Given the description of an element on the screen output the (x, y) to click on. 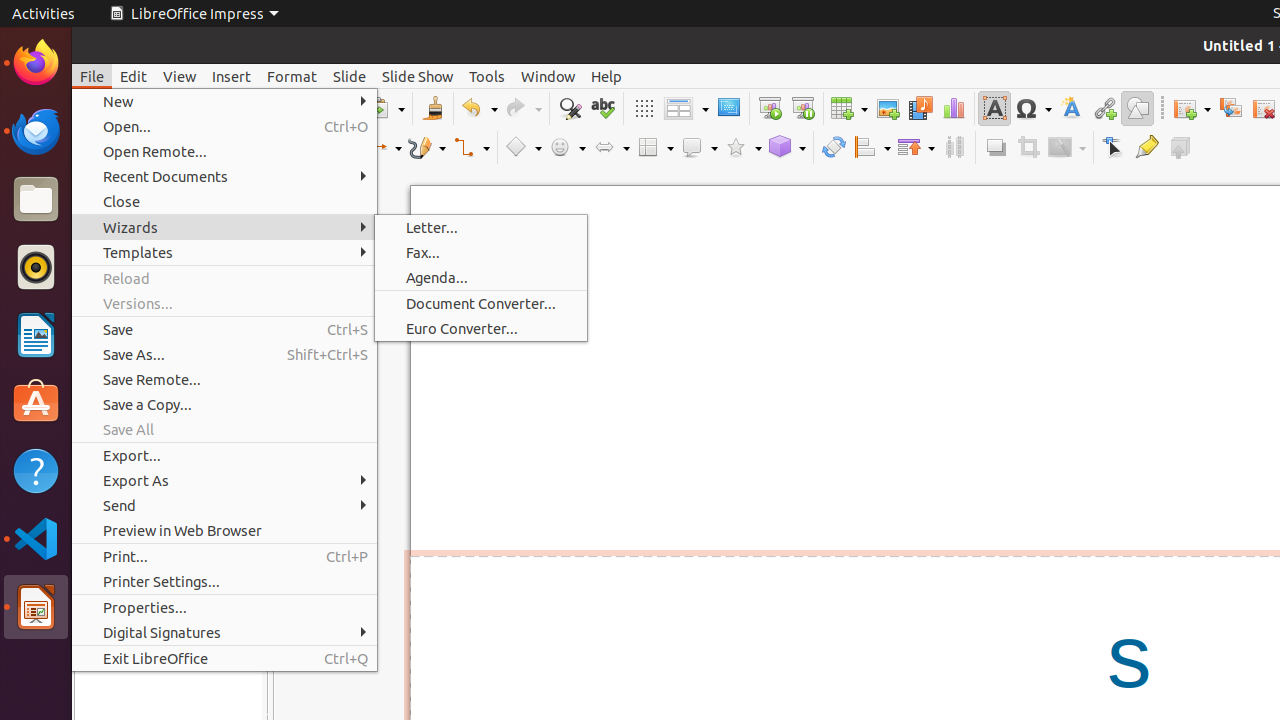
Preview in Web Browser Element type: menu-item (224, 530)
Recent Documents Element type: menu (224, 176)
Exit LibreOffice Element type: menu-item (224, 658)
Window Element type: menu (548, 76)
